Given the description of an element on the screen output the (x, y) to click on. 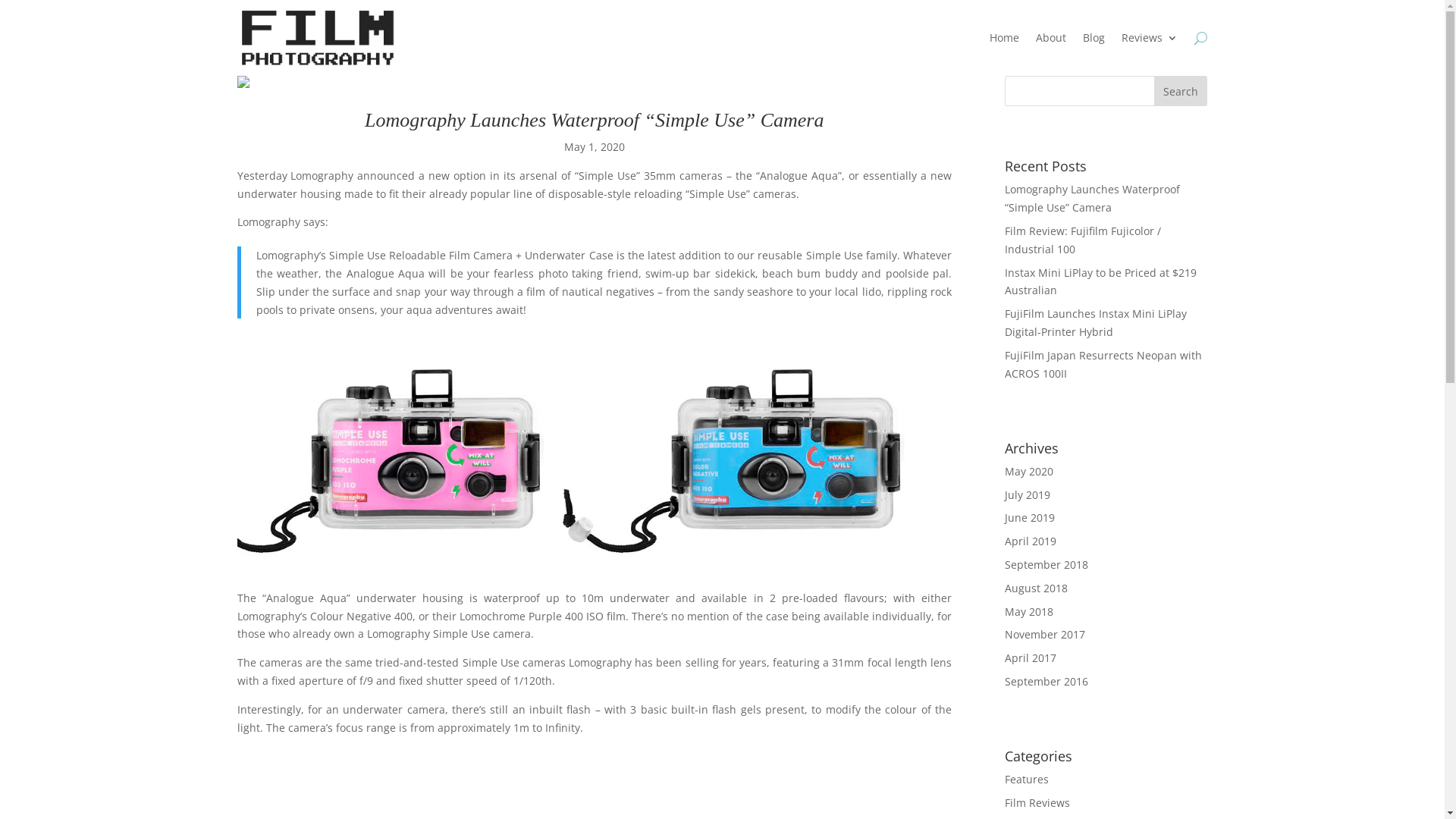
May 2018 Element type: text (1028, 611)
Features Element type: text (1026, 778)
About Element type: text (1050, 40)
September 2016 Element type: text (1046, 681)
Reviews Element type: text (1149, 40)
pink_blue Element type: hover (593, 452)
FujiFilm Japan Resurrects Neopan with ACROS 100II Element type: text (1102, 364)
May 2020 Element type: text (1028, 471)
Search Element type: text (1180, 90)
FujiFilm Launches Instax Mini LiPlay Digital-Printer Hybrid Element type: text (1095, 322)
November 2017 Element type: text (1044, 634)
Blog Element type: text (1093, 40)
clear Element type: hover (316, 37)
September 2018 Element type: text (1046, 564)
Film Reviews Element type: text (1037, 802)
April 2017 Element type: text (1030, 657)
Home Element type: text (1004, 40)
June 2019 Element type: text (1029, 517)
August 2018 Element type: text (1035, 587)
Film Review: Fujifilm Fujicolor / Industrial 100 Element type: text (1082, 239)
July 2019 Element type: text (1027, 494)
Instax Mini LiPlay to be Priced at $219 Australian Element type: text (1100, 281)
April 2019 Element type: text (1030, 540)
